Given the description of an element on the screen output the (x, y) to click on. 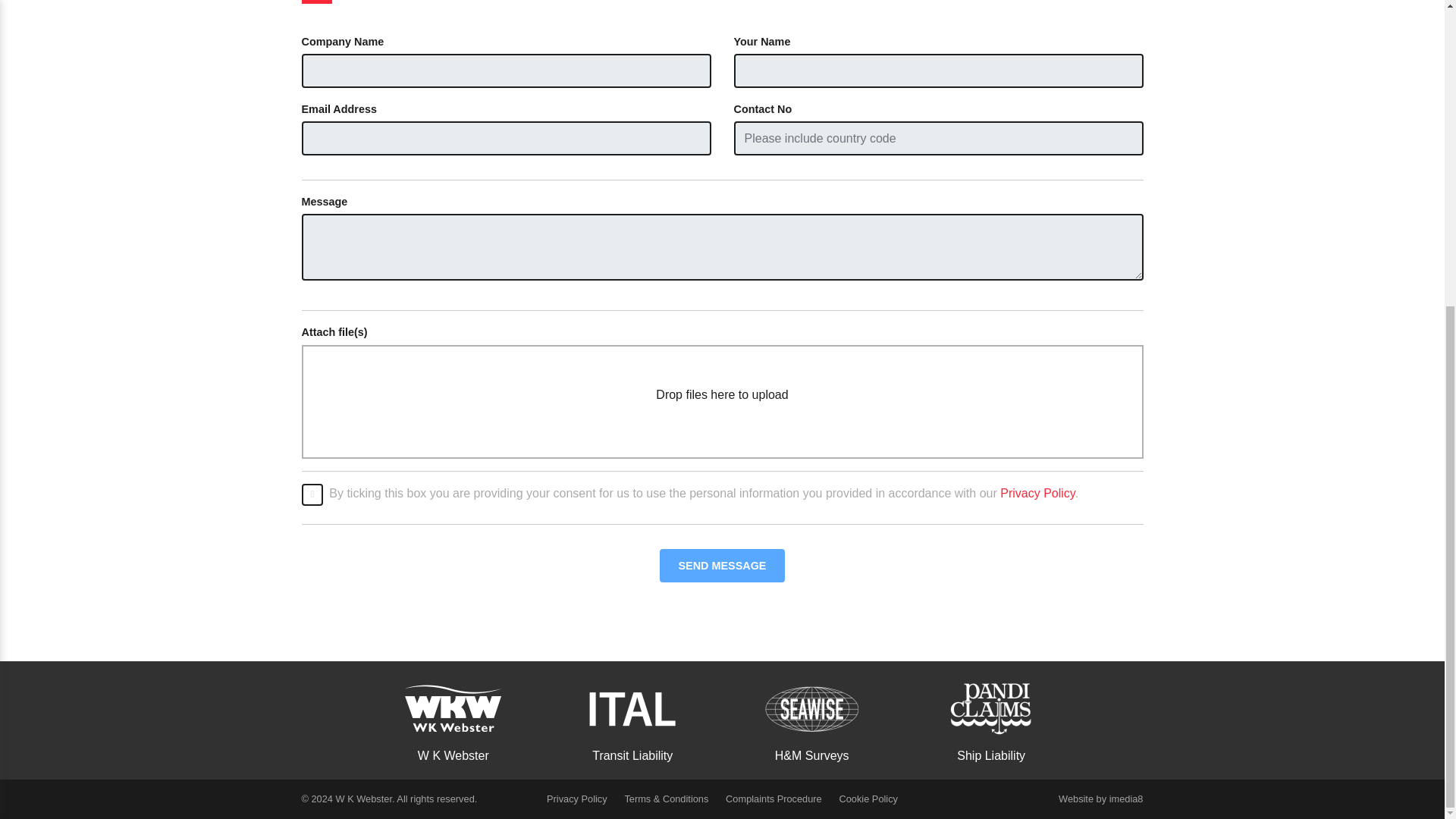
Ship Liability (991, 717)
Transit Liability (631, 717)
Privacy Policy (577, 798)
Complaints Procedure (773, 798)
W K Webster (453, 717)
Cookie Policy (868, 798)
imedia8 (1125, 798)
SEND MESSAGE (721, 565)
Privacy Policy (1037, 492)
